Given the description of an element on the screen output the (x, y) to click on. 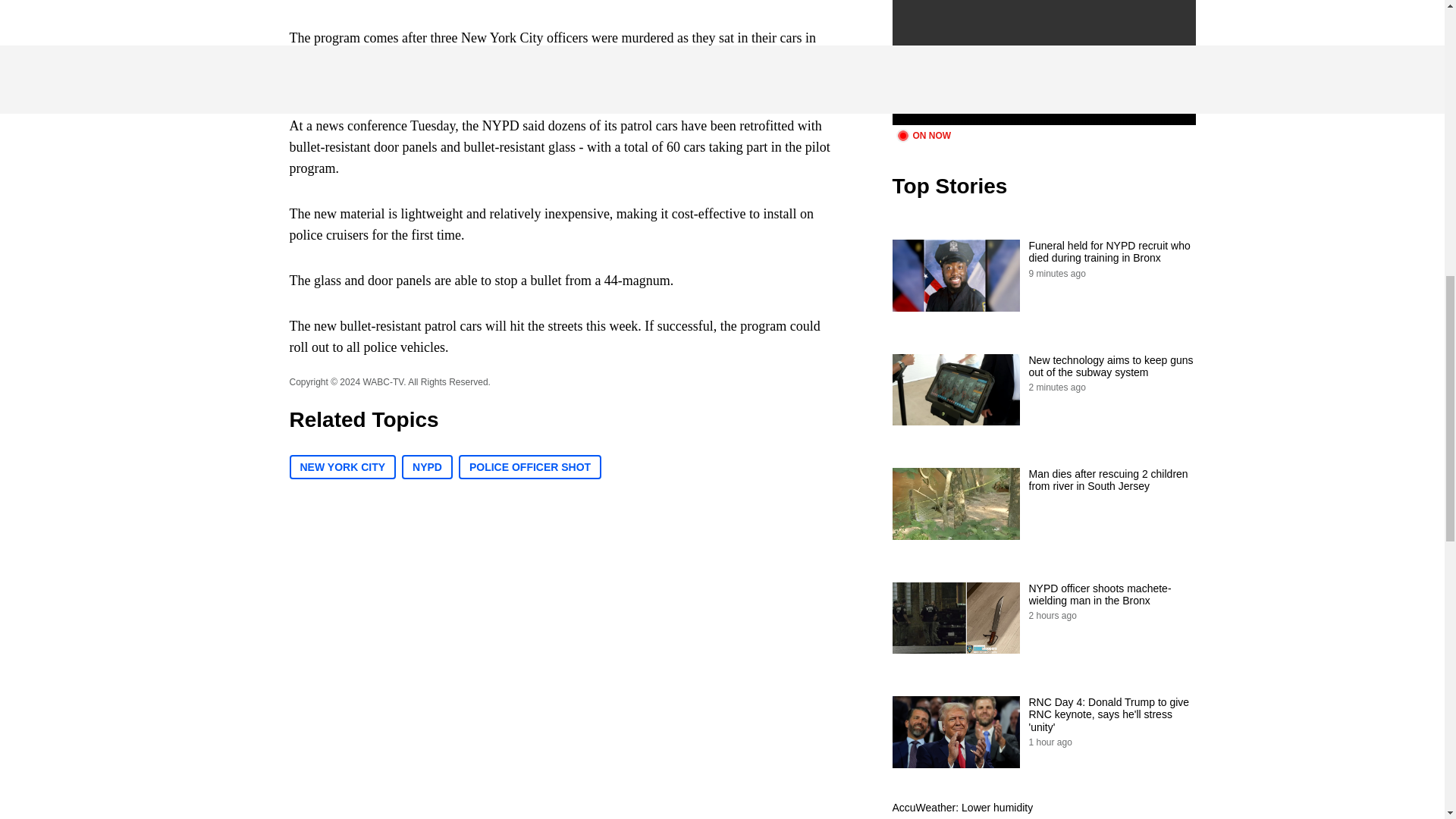
video.title (1043, 62)
